Given the description of an element on the screen output the (x, y) to click on. 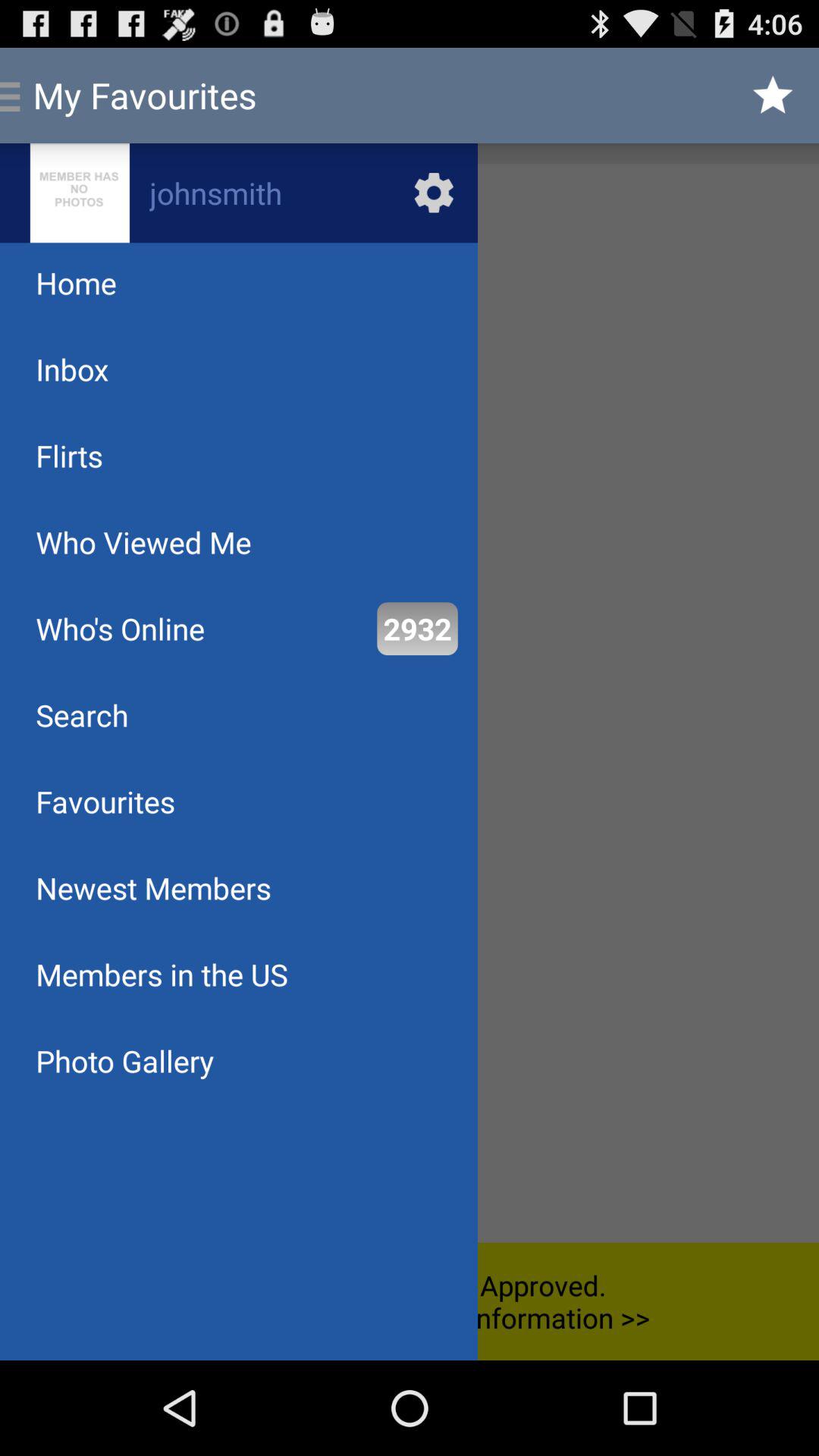
choose the item below newest members app (161, 974)
